Given the description of an element on the screen output the (x, y) to click on. 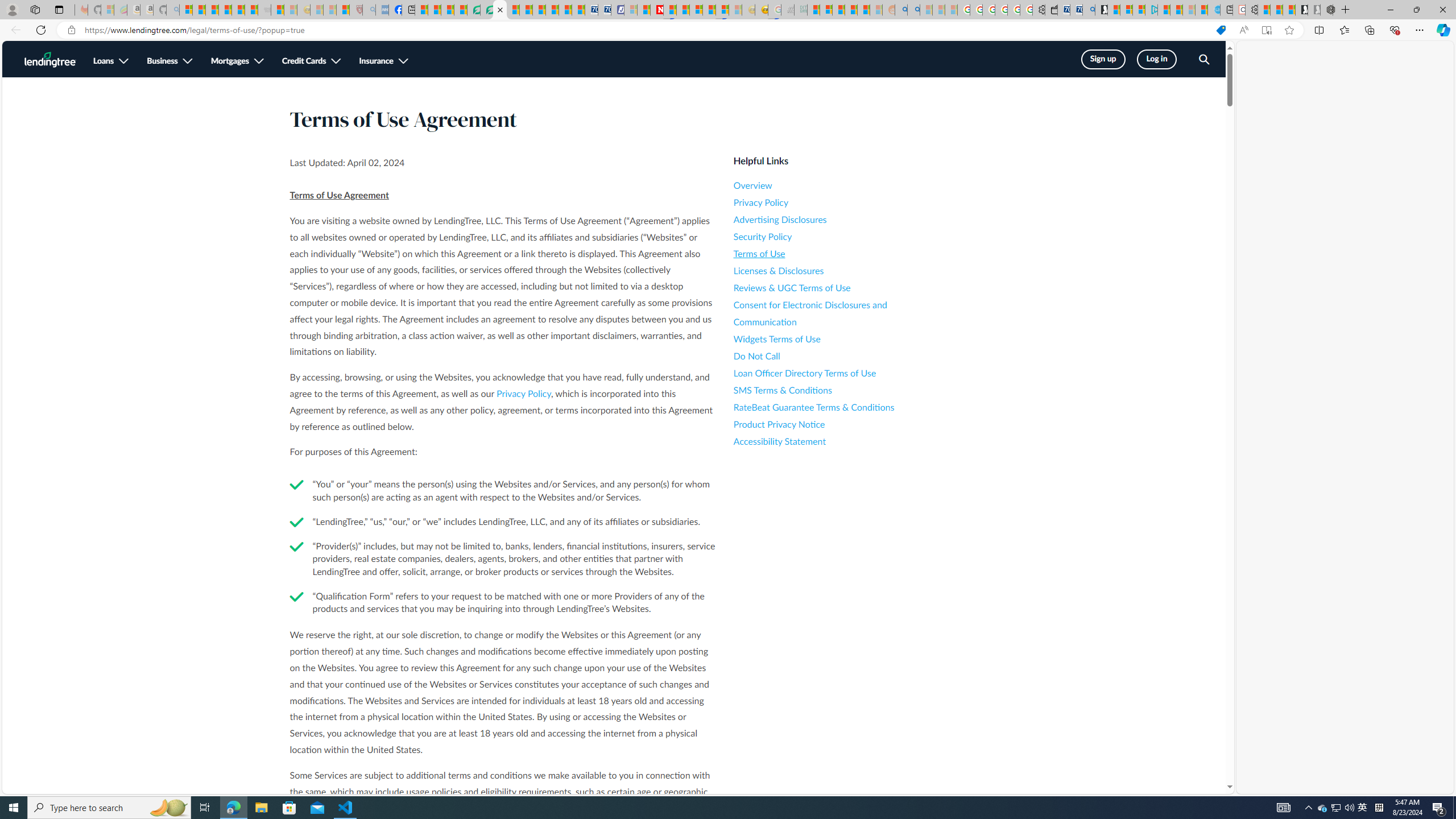
Reviews & UGC Terms of Use (836, 287)
New Report Confirms 2023 Was Record Hot | Watch (237, 9)
Do Not Call (836, 356)
LendingTree Homepage Logo (50, 59)
